Given the description of an element on the screen output the (x, y) to click on. 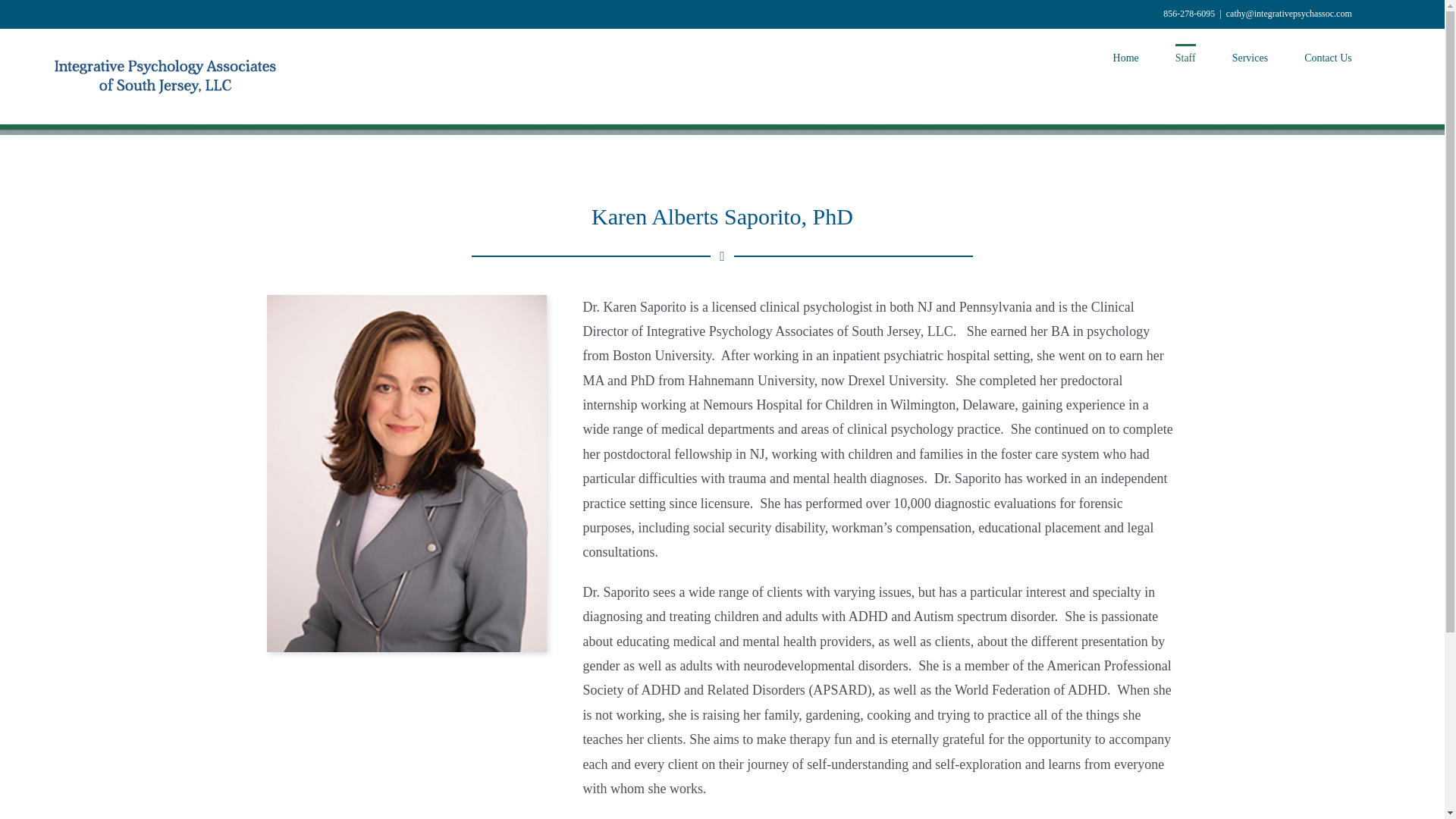
Contact Us (1328, 57)
Services (1249, 57)
Home (1125, 57)
